Given the description of an element on the screen output the (x, y) to click on. 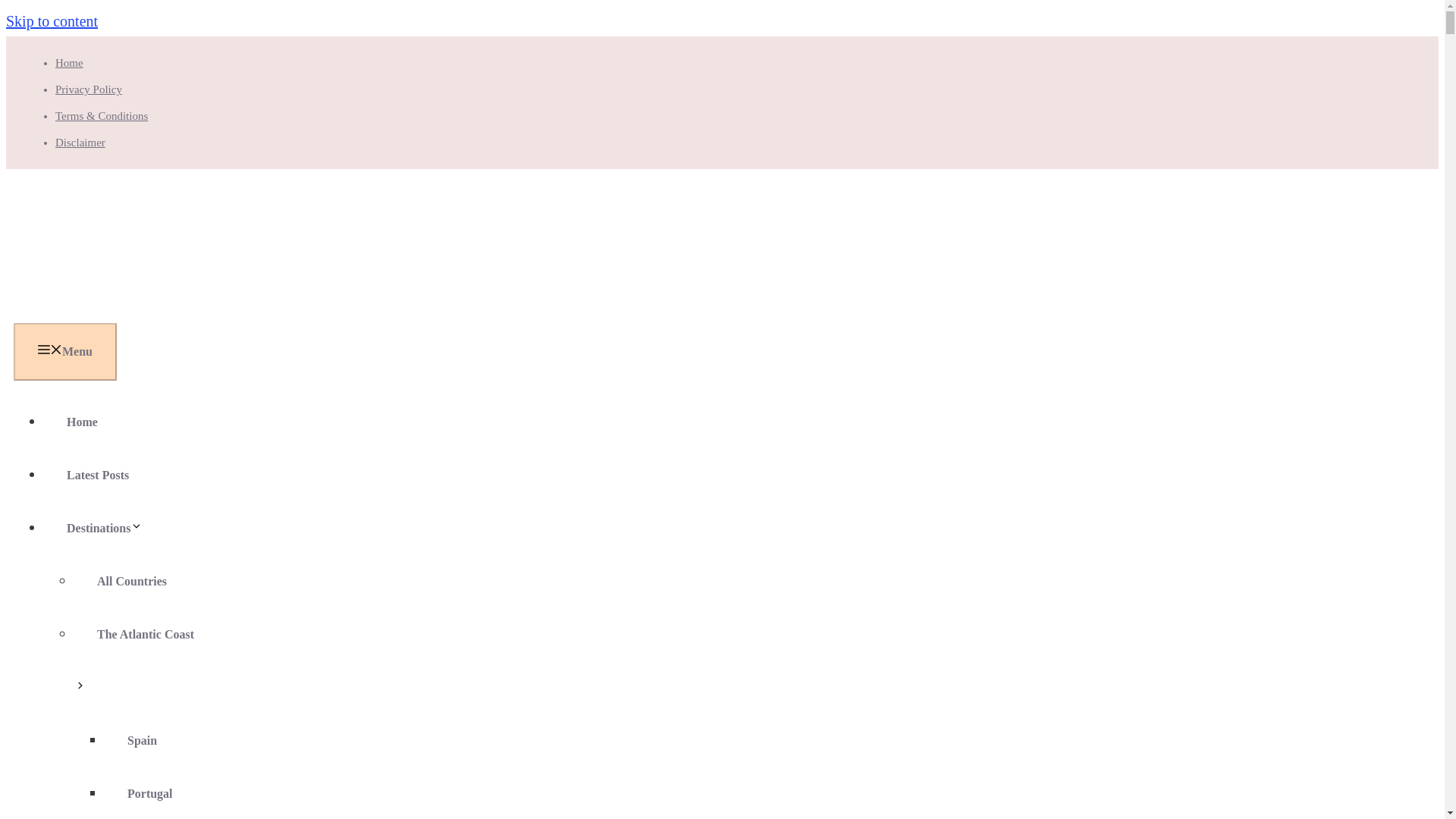
Home (81, 421)
Privacy Policy (88, 89)
Menu (64, 351)
Spain (141, 740)
Skip to content (51, 21)
Destinations (115, 527)
Skip to content (51, 21)
The Atlantic Coast (133, 660)
Home (68, 62)
Latest Posts (97, 474)
